Given the description of an element on the screen output the (x, y) to click on. 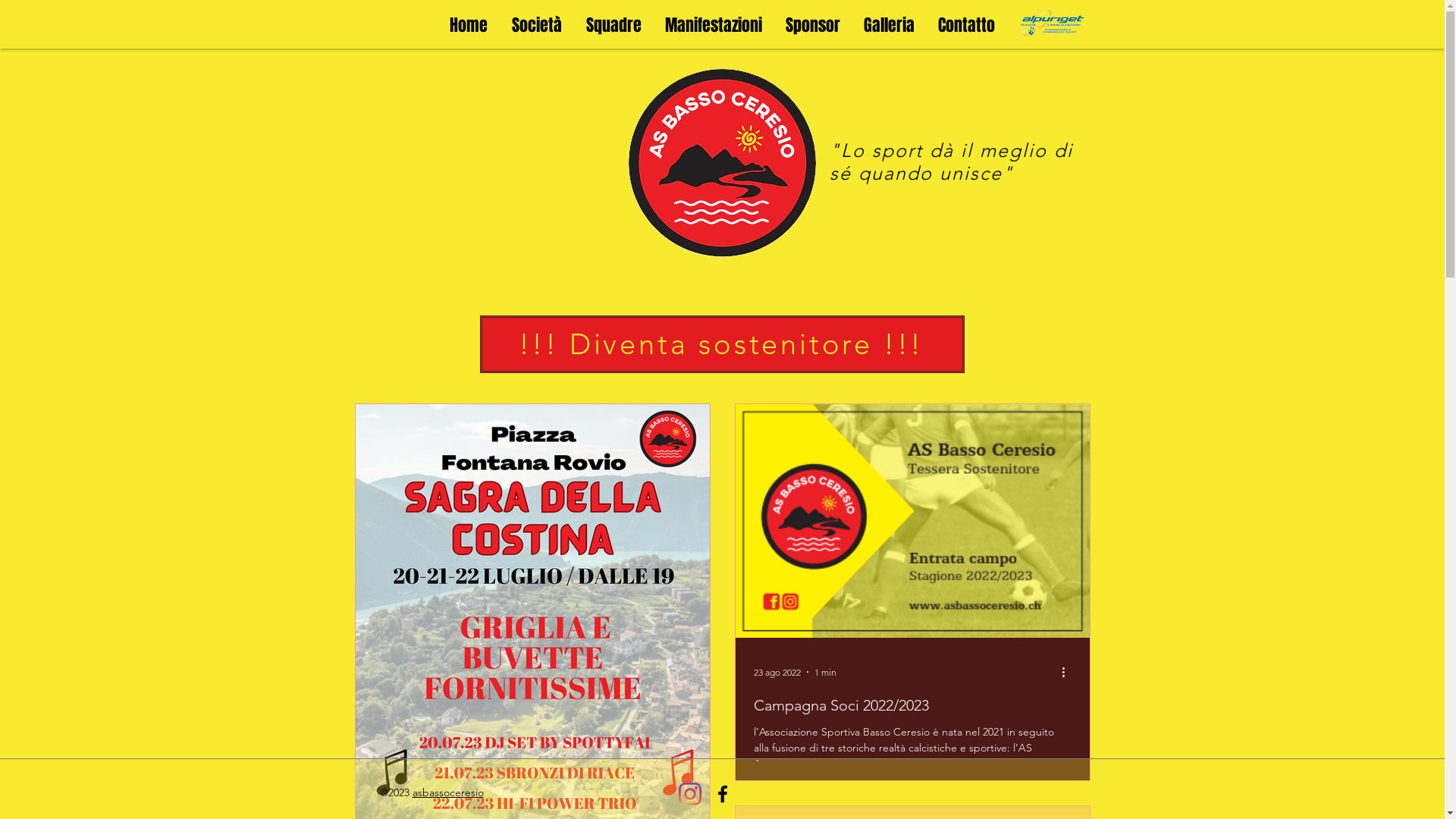
Contatto Element type: text (966, 23)
Squadre Element type: text (612, 23)
sport Element type: text (897, 149)
Home Element type: text (467, 23)
Galleria Element type: text (889, 23)
!!! Diventa sostenitore !!! Element type: text (721, 344)
Campagna Soci 2022/2023 Element type: text (912, 704)
asbassoceresio Element type: text (447, 792)
Sponsor Element type: text (812, 23)
Manifestazioni Element type: text (713, 23)
